Given the description of an element on the screen output the (x, y) to click on. 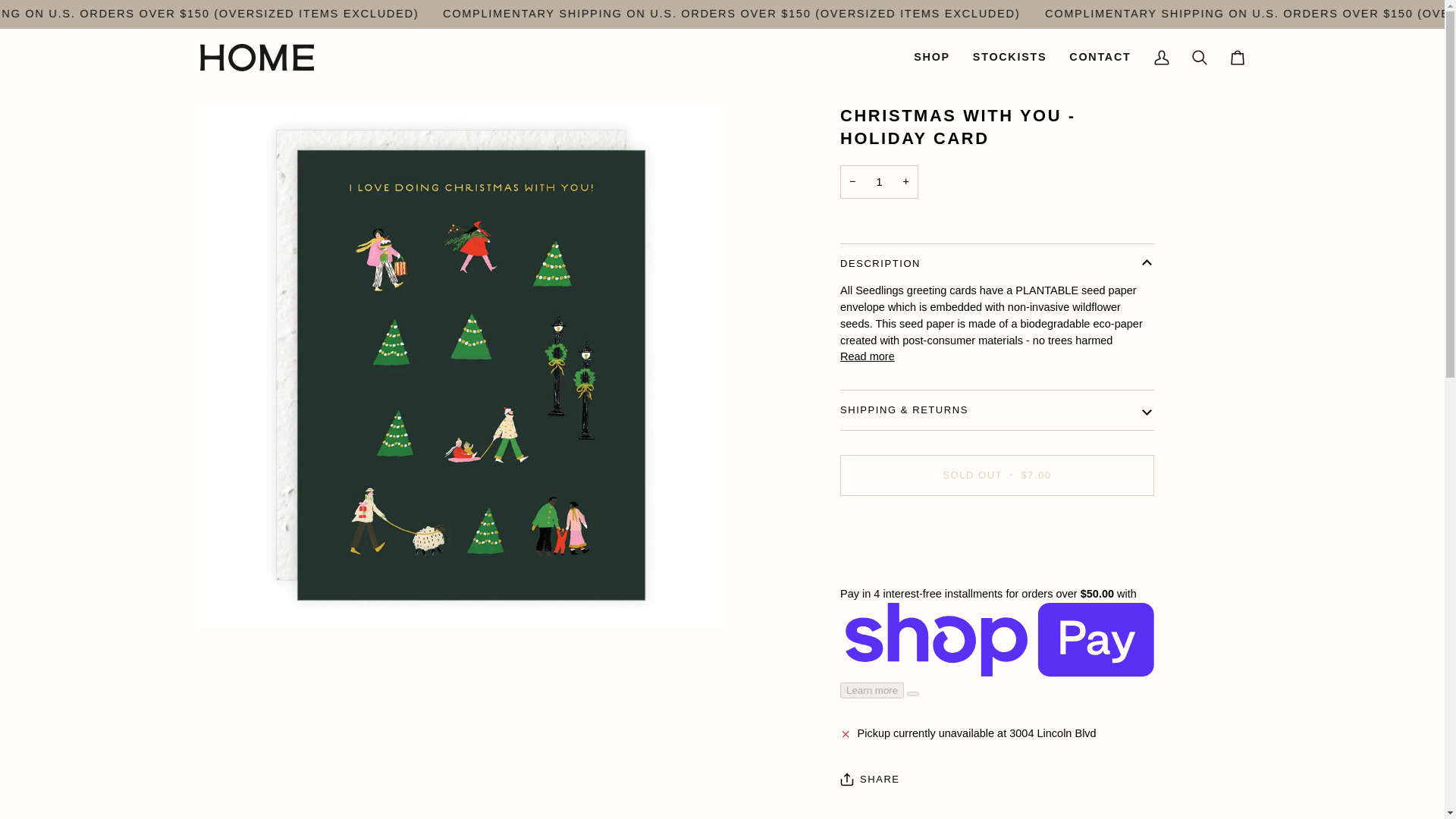
SHOP (931, 57)
1 (879, 182)
